Given the description of an element on the screen output the (x, y) to click on. 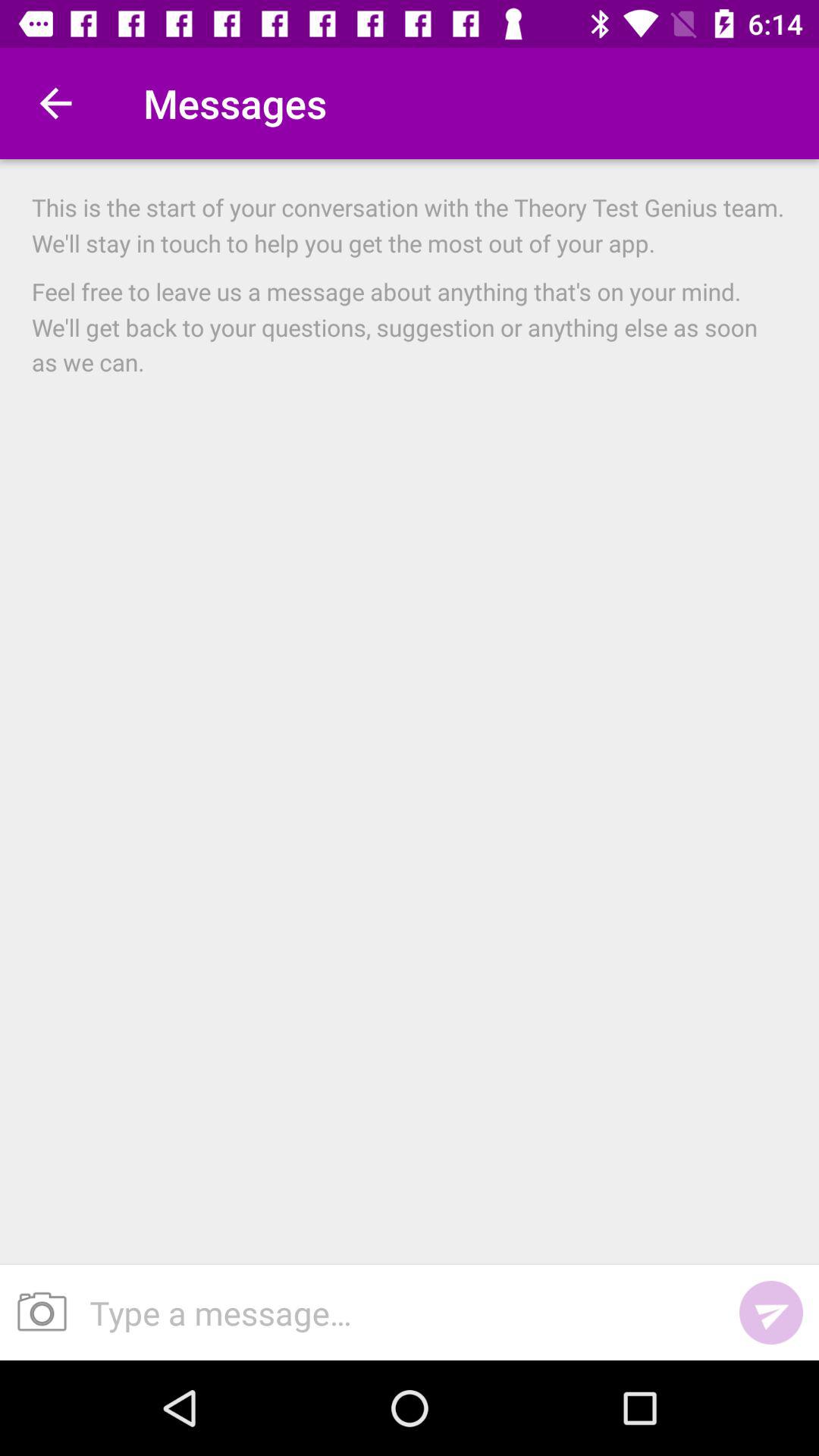
launch the item below this is the (409, 326)
